Given the description of an element on the screen output the (x, y) to click on. 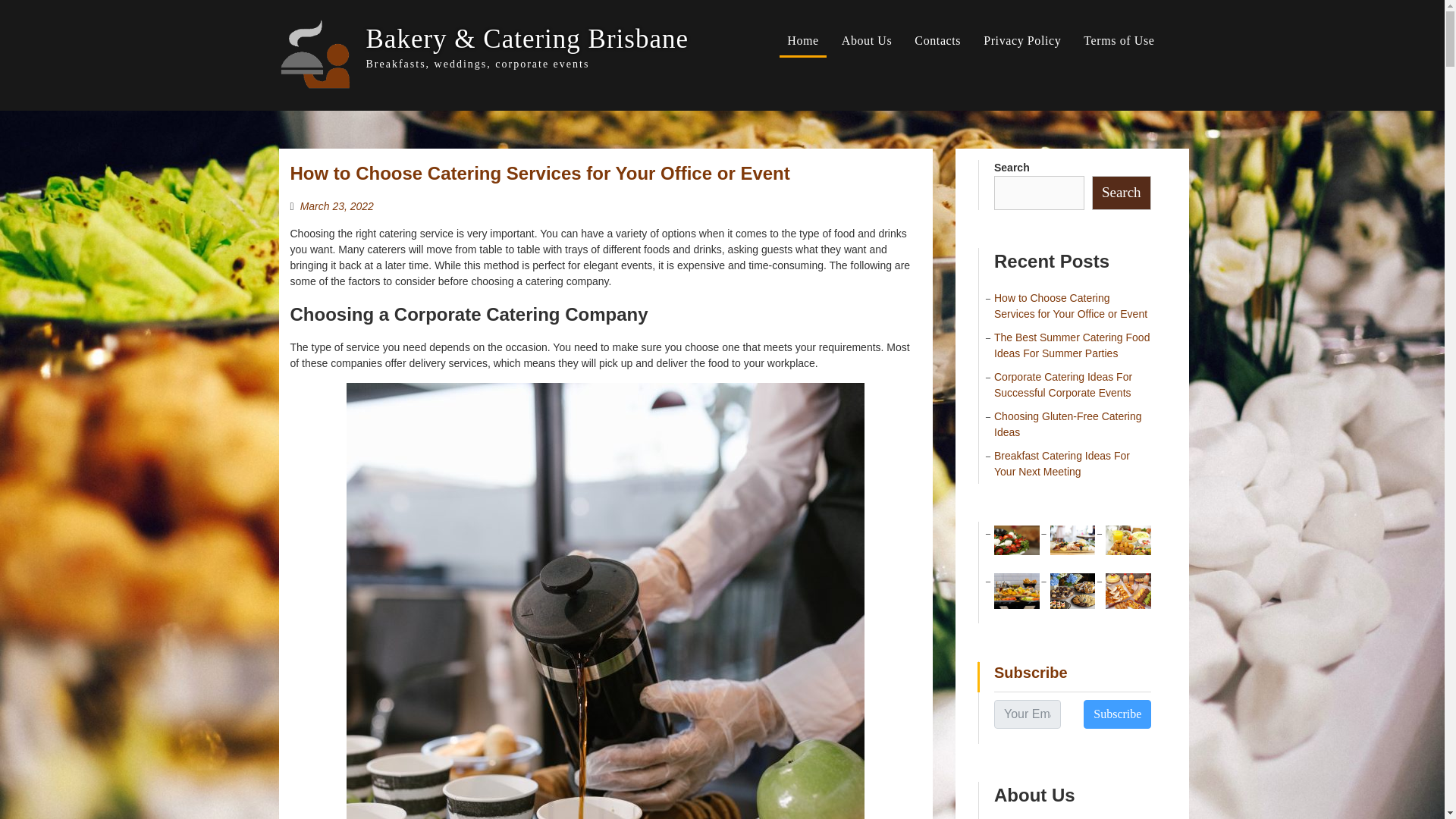
Home (802, 40)
Terms of Use (1118, 40)
About Us (866, 40)
Privacy Policy (1021, 40)
Contacts (937, 40)
How to Choose Catering Services for Your Office or Event (539, 172)
March 23, 2022 (336, 205)
